Given the description of an element on the screen output the (x, y) to click on. 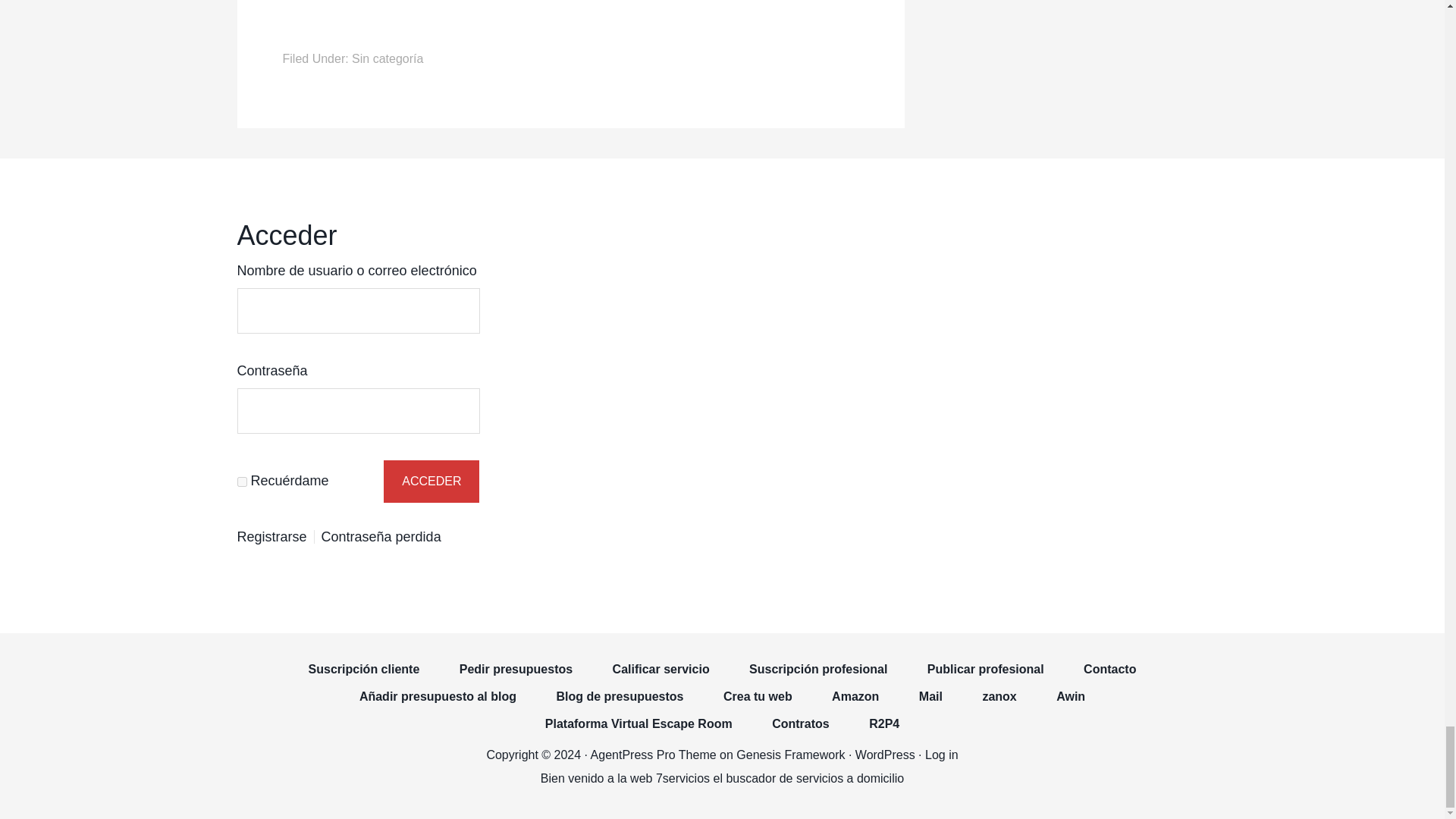
Acceder (431, 481)
forever (240, 481)
